Given the description of an element on the screen output the (x, y) to click on. 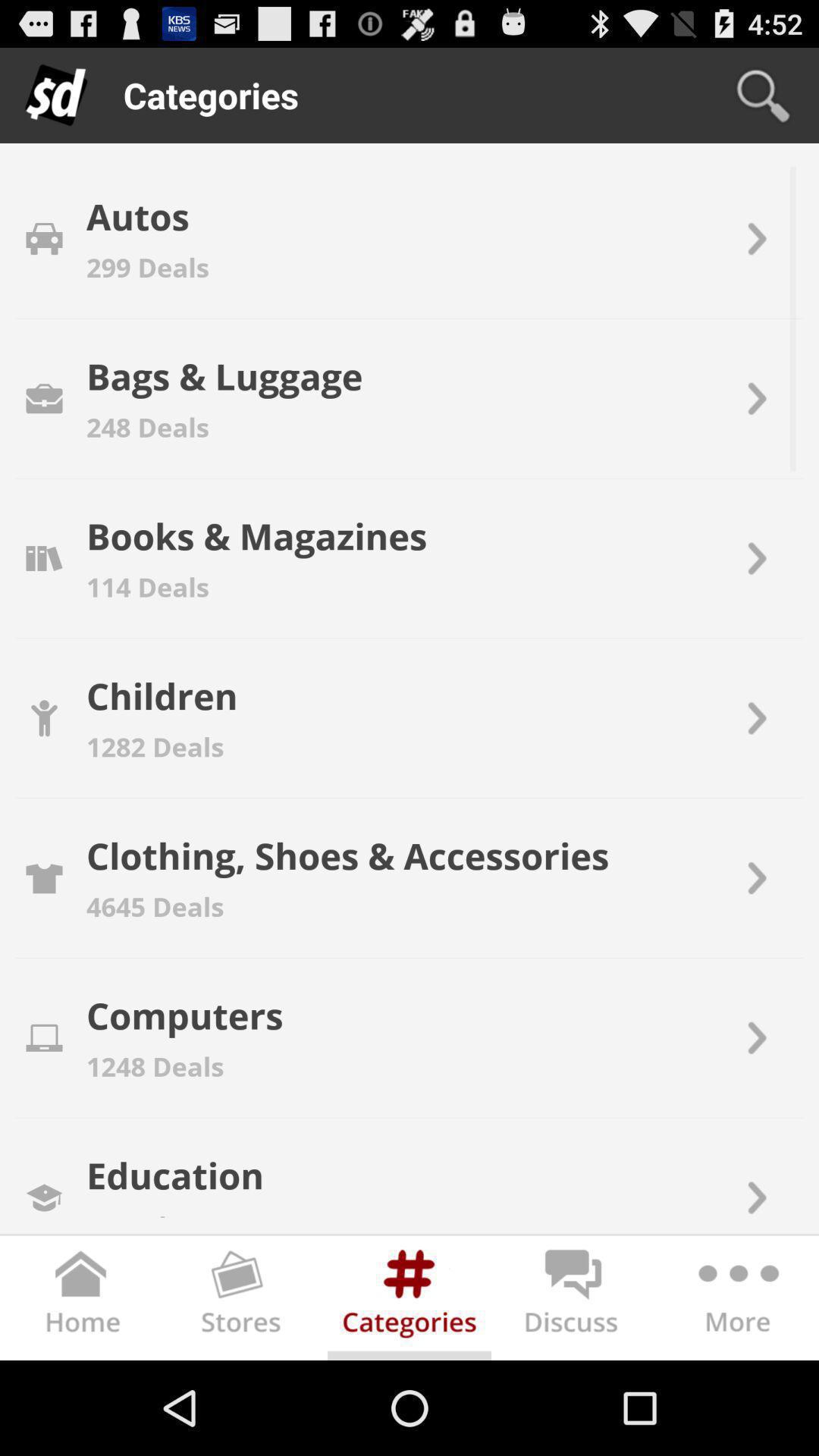
activate discuss function (573, 1301)
